Given the description of an element on the screen output the (x, y) to click on. 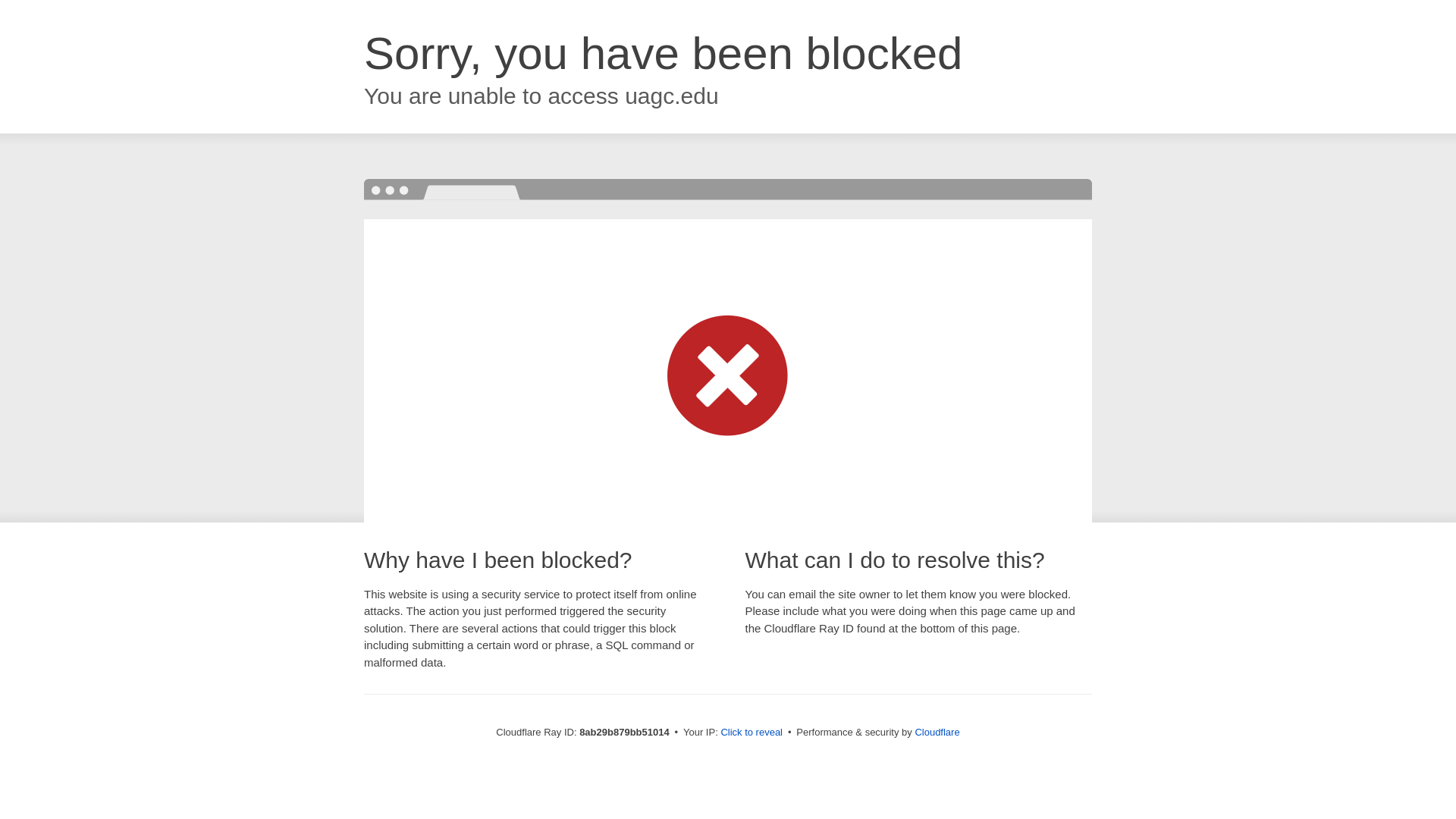
Click to reveal (751, 732)
Cloudflare (936, 731)
